Given the description of an element on the screen output the (x, y) to click on. 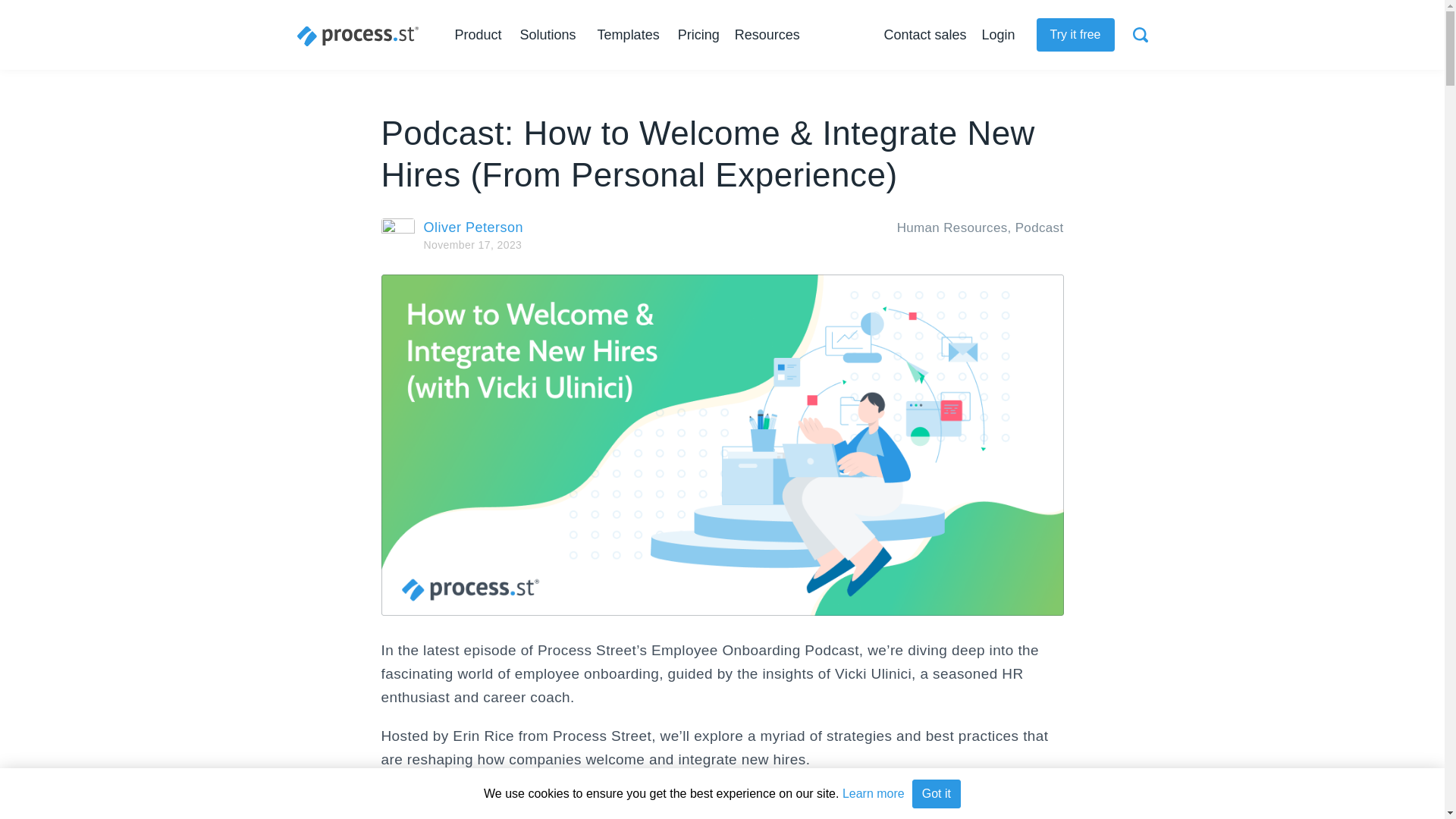
Process Street (358, 35)
Resources (770, 34)
Product (481, 34)
Login (997, 34)
Templates (627, 34)
Solutions (550, 34)
Pricing (698, 34)
Try it free (1075, 34)
Contact sales (924, 34)
